Given the description of an element on the screen output the (x, y) to click on. 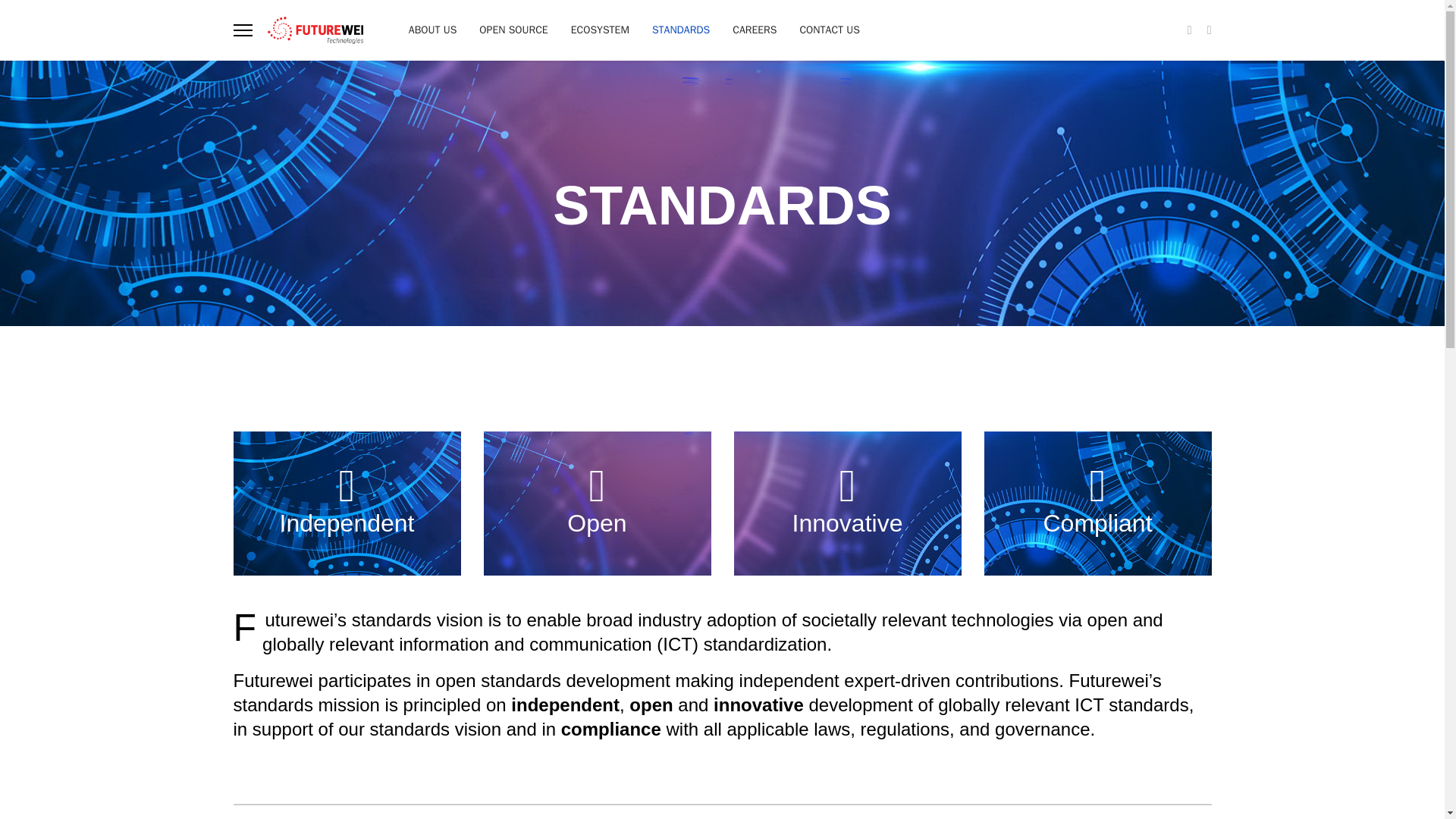
ABOUT US (432, 30)
STANDARDS (680, 30)
ECOSYSTEM (599, 30)
CAREERS (753, 30)
CONTACT US (823, 30)
OPEN SOURCE (513, 30)
